Given the description of an element on the screen output the (x, y) to click on. 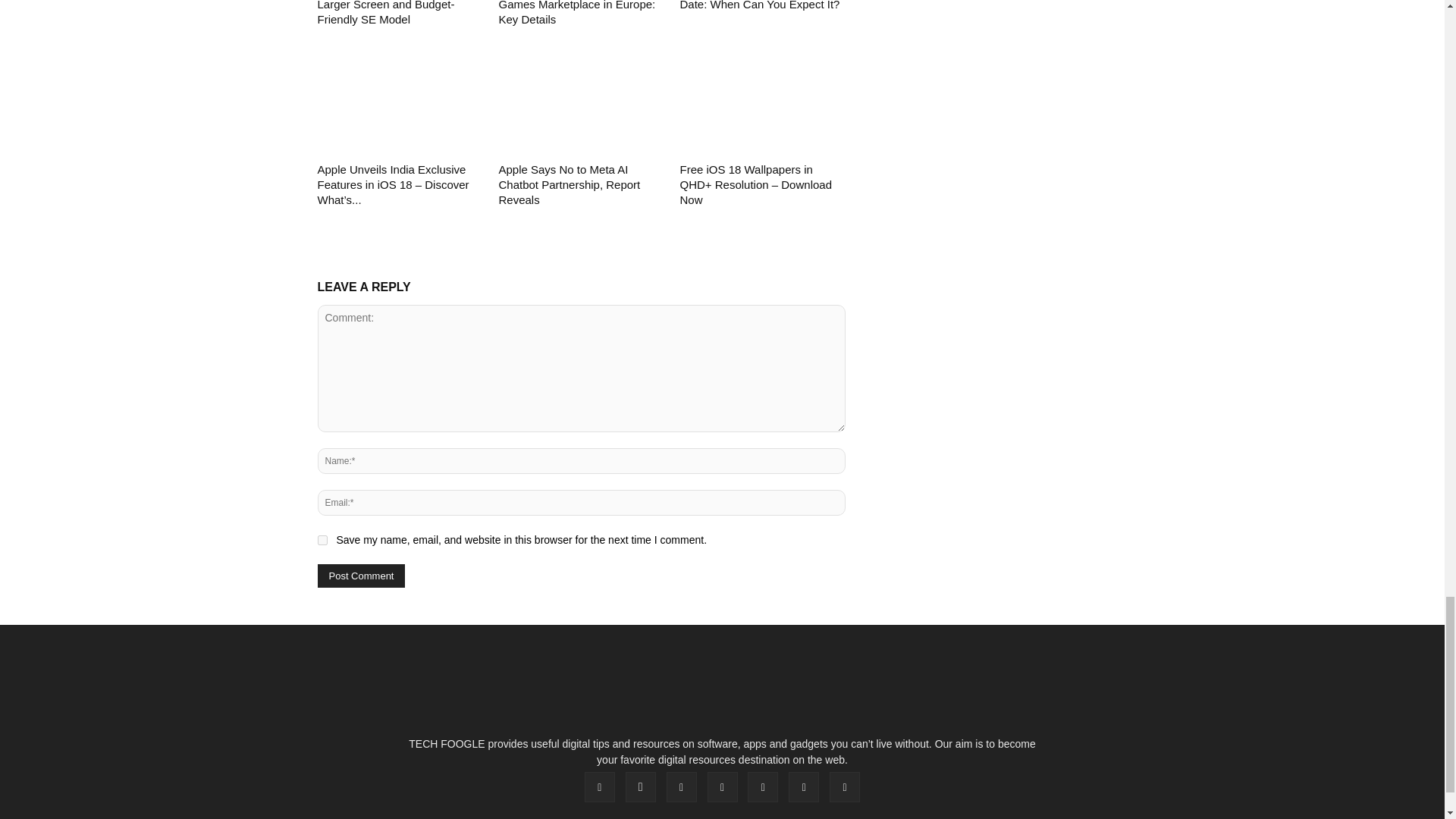
yes (321, 540)
Post Comment (360, 576)
